Given the description of an element on the screen output the (x, y) to click on. 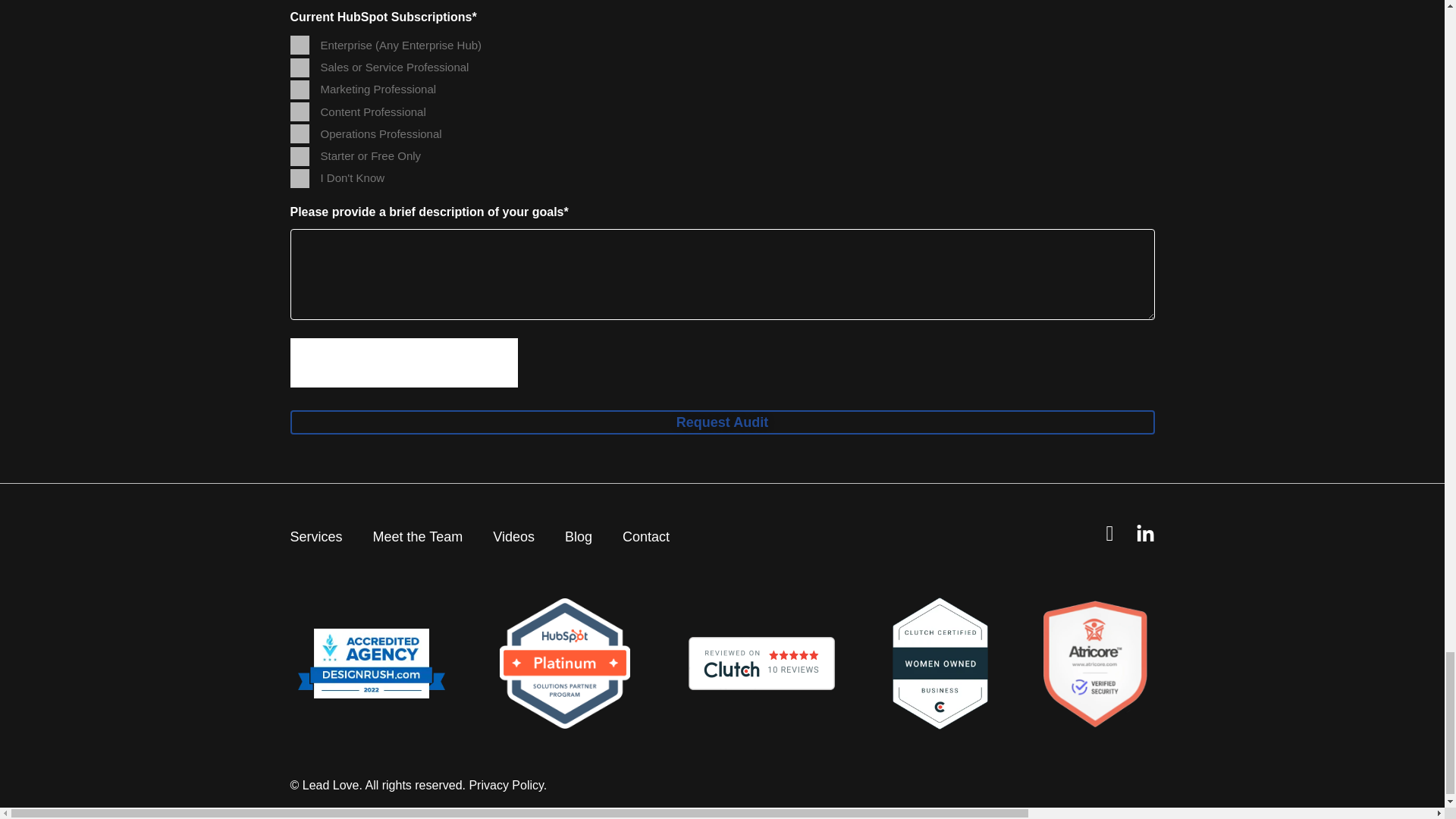
Content Professional (298, 111)
Marketing Professional (298, 89)
I Don't Know (298, 178)
Starter or Free Only (298, 155)
Sales or Service Professional (298, 67)
Operations Professional (298, 133)
Request Audit (721, 422)
